Given the description of an element on the screen output the (x, y) to click on. 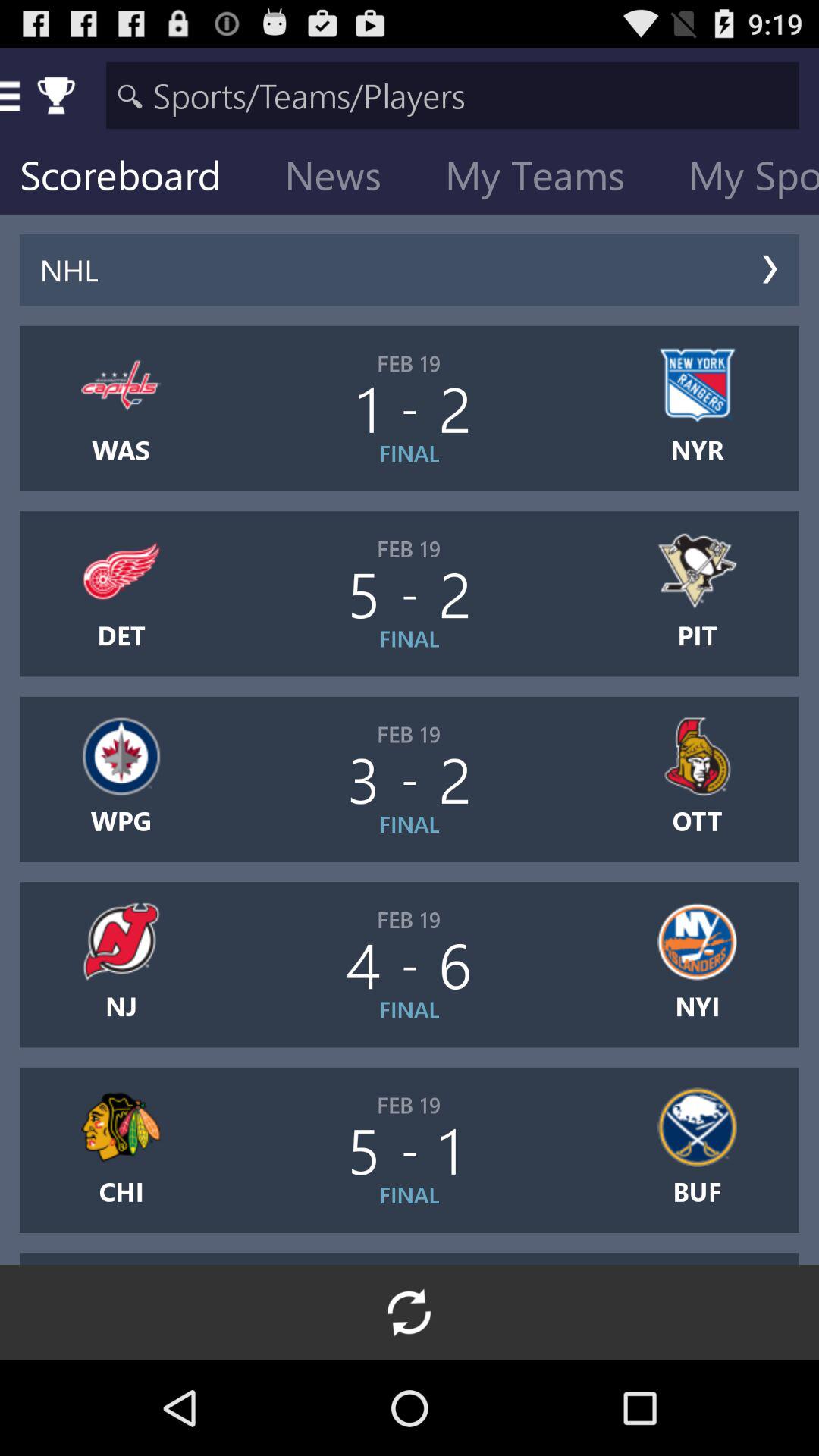
tap scoreboard item (132, 178)
